Given the description of an element on the screen output the (x, y) to click on. 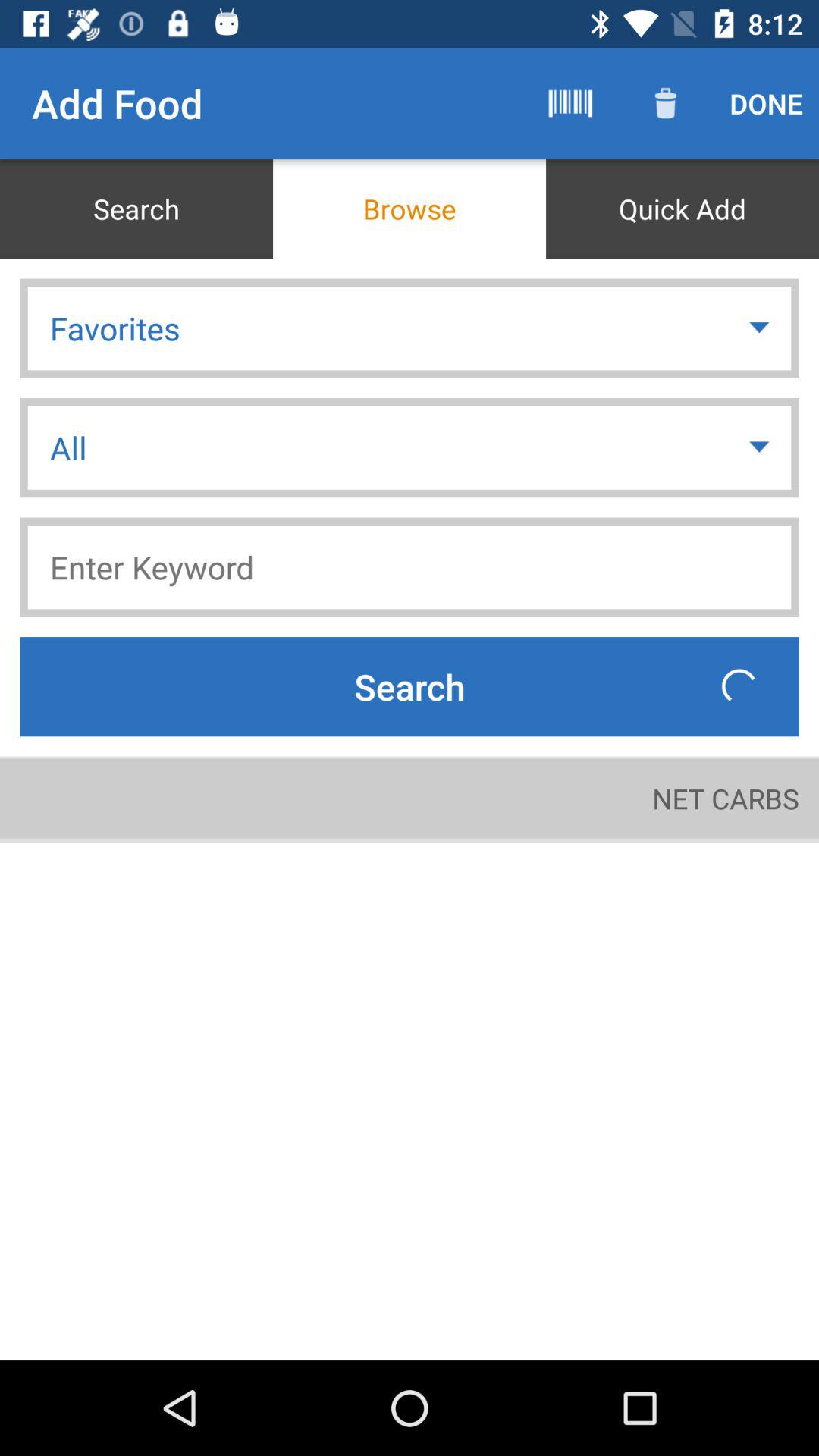
launch the icon next to the done (665, 103)
